Given the description of an element on the screen output the (x, y) to click on. 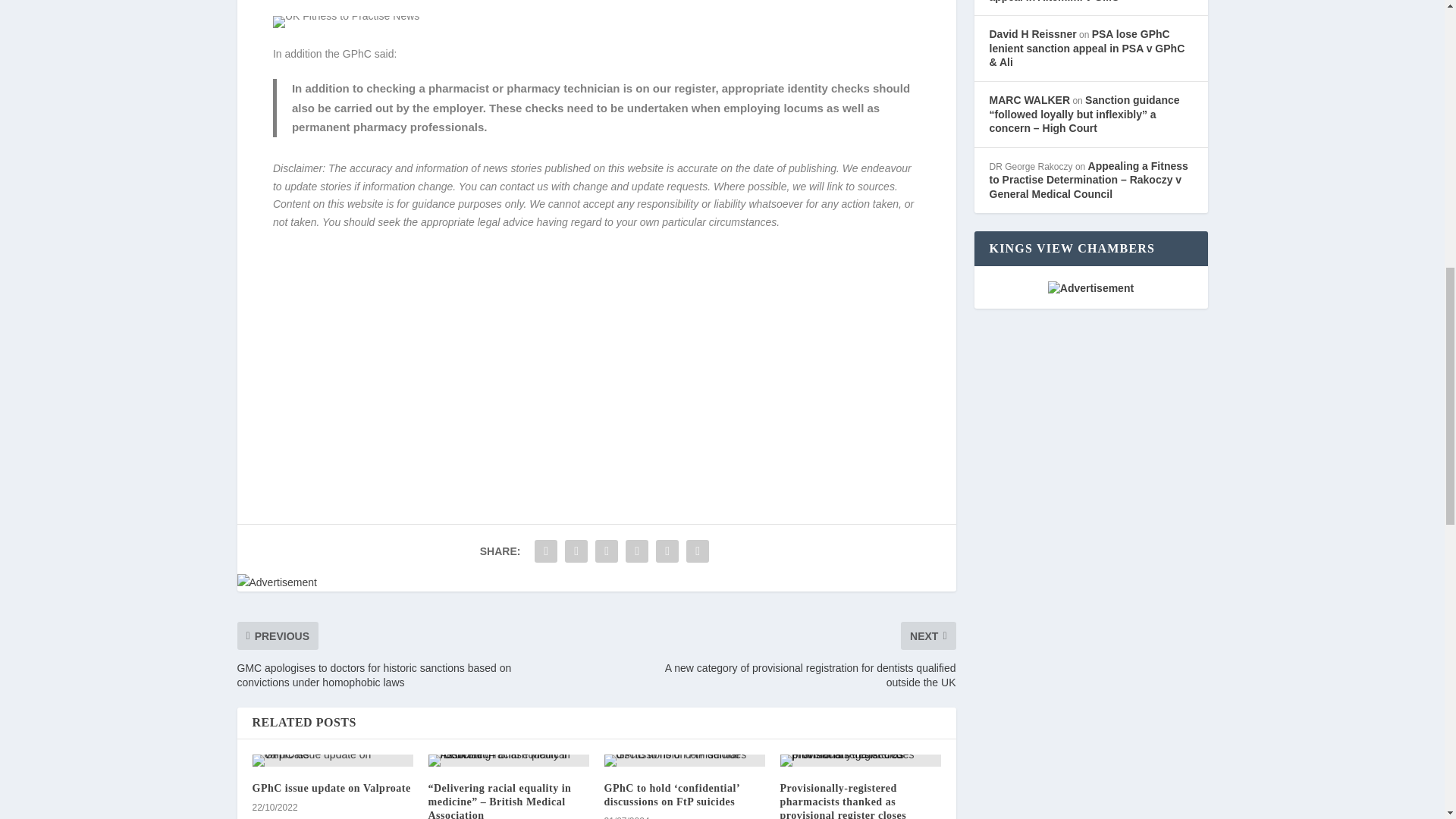
UK Fitness to Practise News (346, 21)
our register (684, 88)
